Given the description of an element on the screen output the (x, y) to click on. 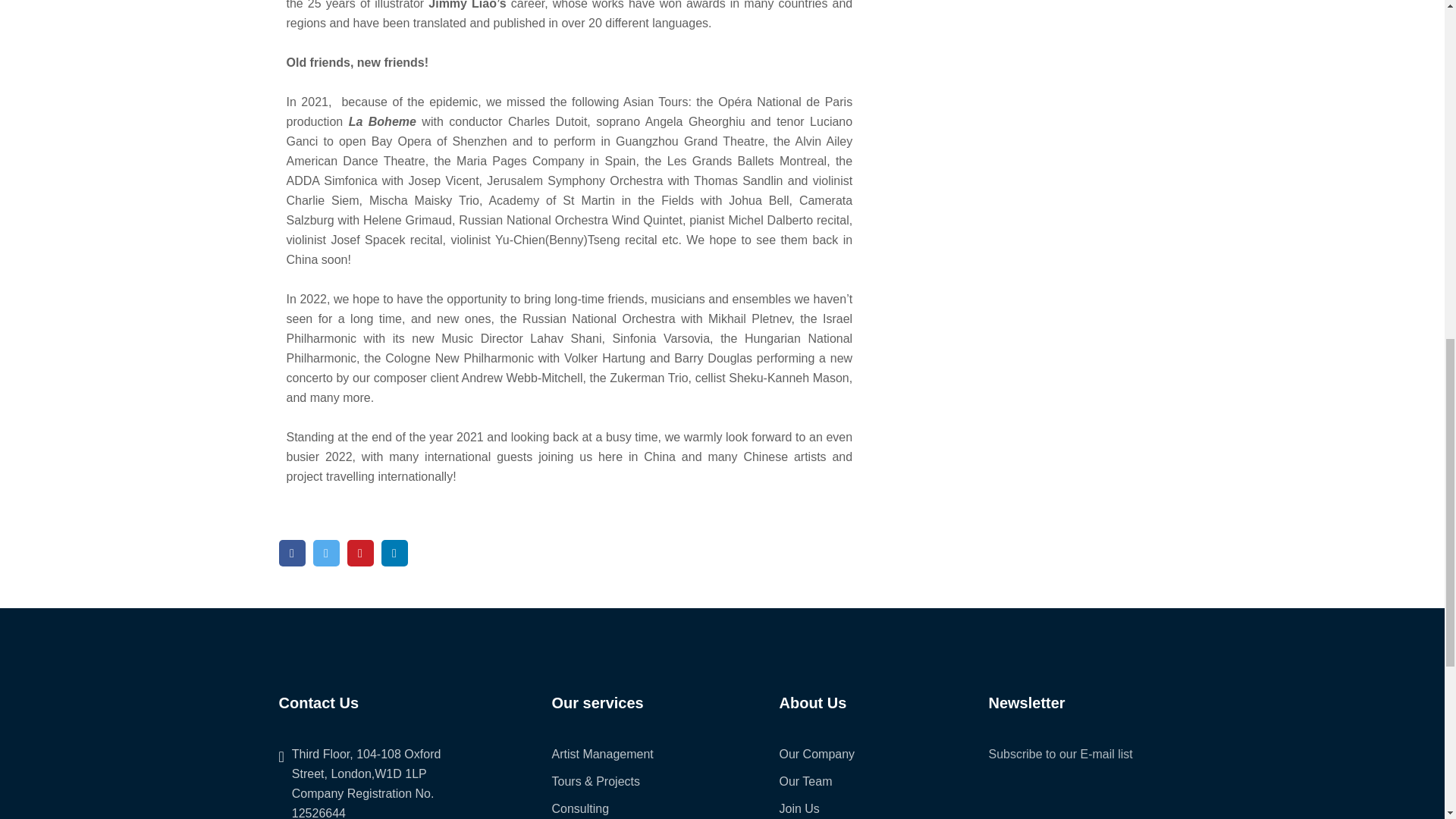
Twitter (326, 552)
Pinterest (360, 552)
Linkedin (393, 552)
Facebook (292, 552)
